Given the description of an element on the screen output the (x, y) to click on. 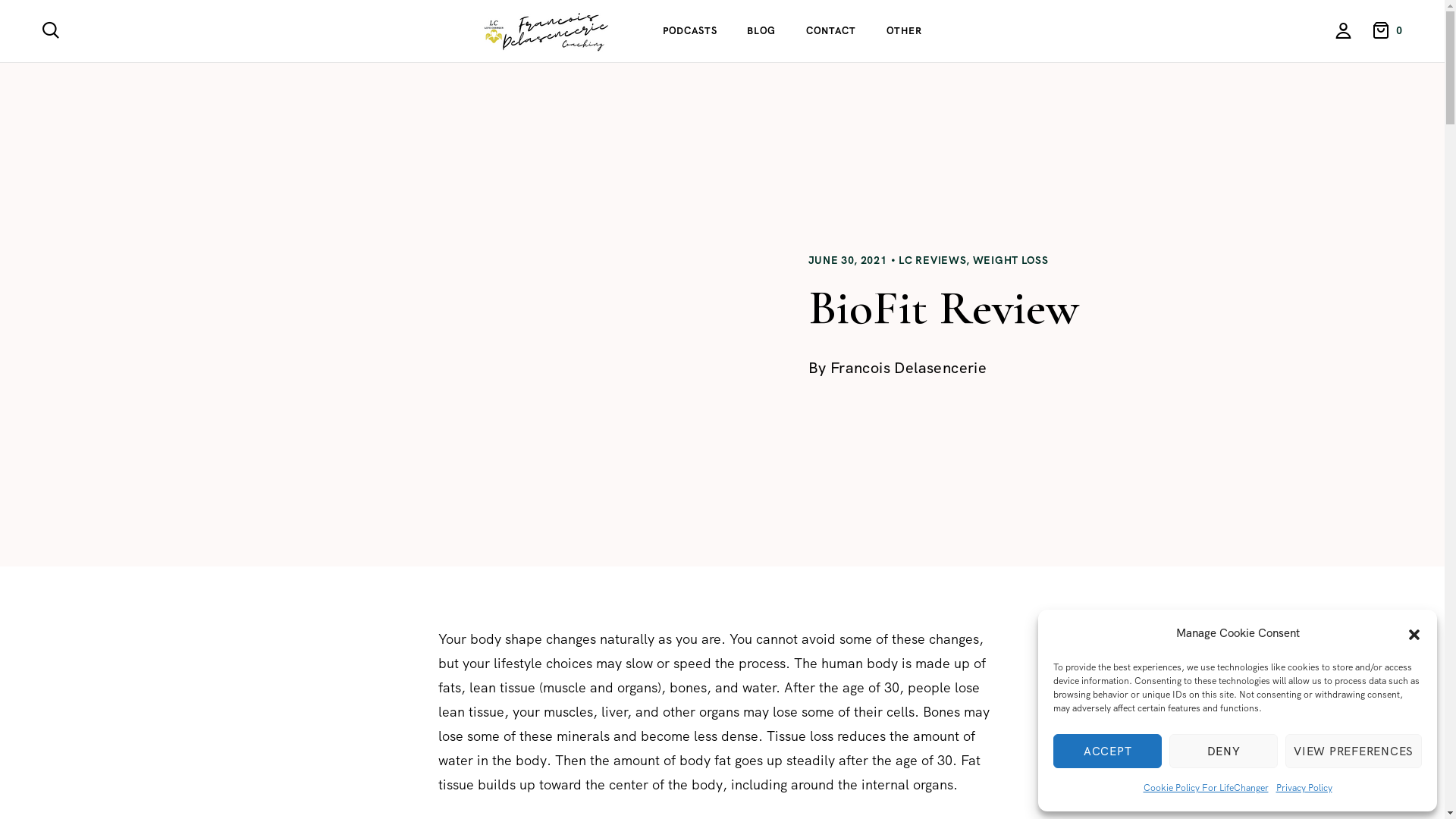
PODCASTS Element type: text (689, 30)
Francois Delasencerie Element type: text (908, 367)
Cookie Policy For LifeChanger Element type: text (1205, 787)
WEIGHT LOSS Element type: text (1010, 259)
CONTACT Element type: text (831, 30)
0 Element type: text (1388, 30)
ACCEPT Element type: text (1107, 751)
Privacy Policy Element type: text (1303, 787)
BLOG Element type: text (760, 30)
LC REVIEWS Element type: text (932, 259)
VIEW PREFERENCES Element type: text (1353, 751)
OTHER Element type: text (903, 30)
DENY Element type: text (1223, 751)
